Given the description of an element on the screen output the (x, y) to click on. 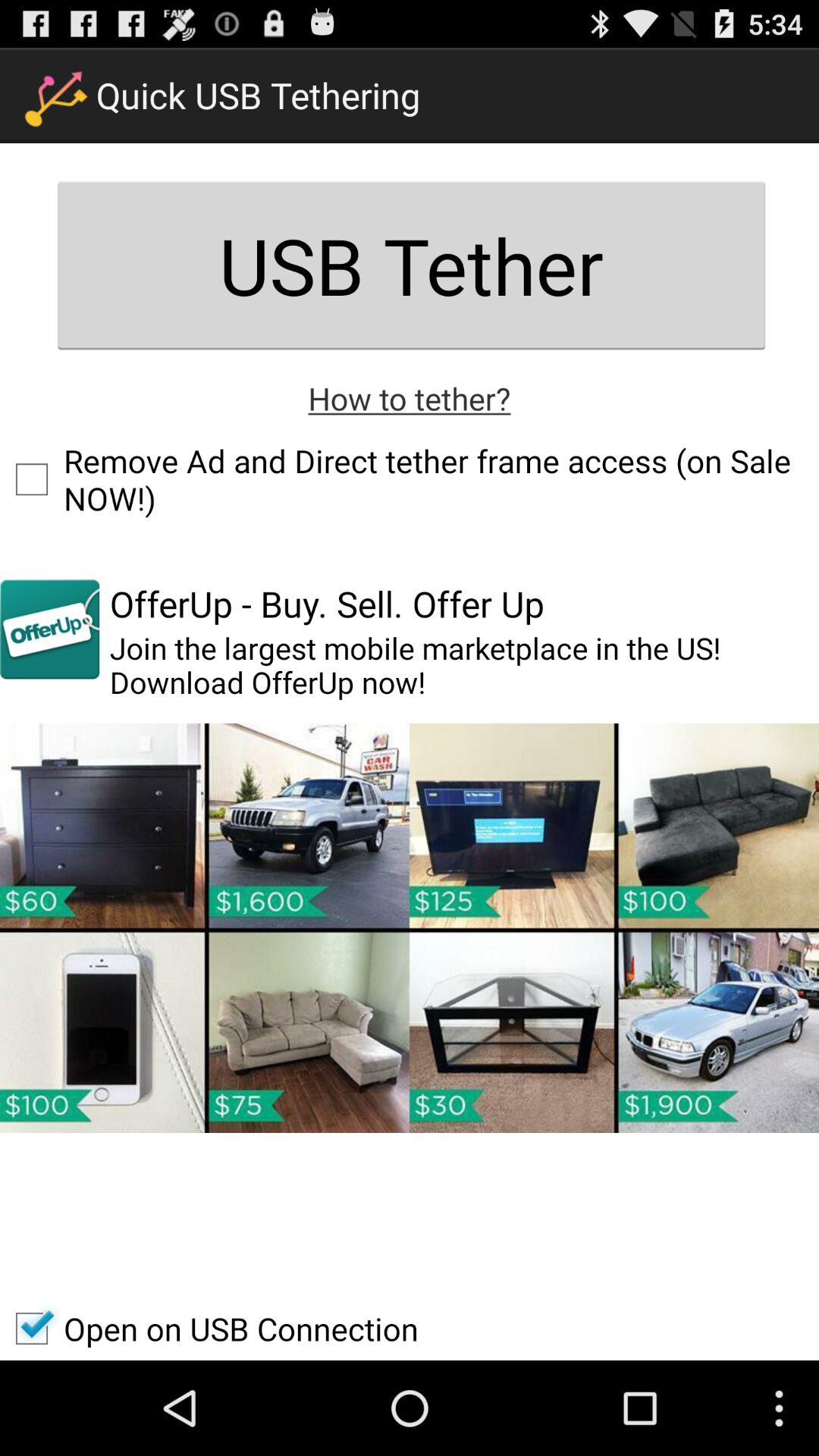
launch the app below the join the largest item (409, 927)
